Given the description of an element on the screen output the (x, y) to click on. 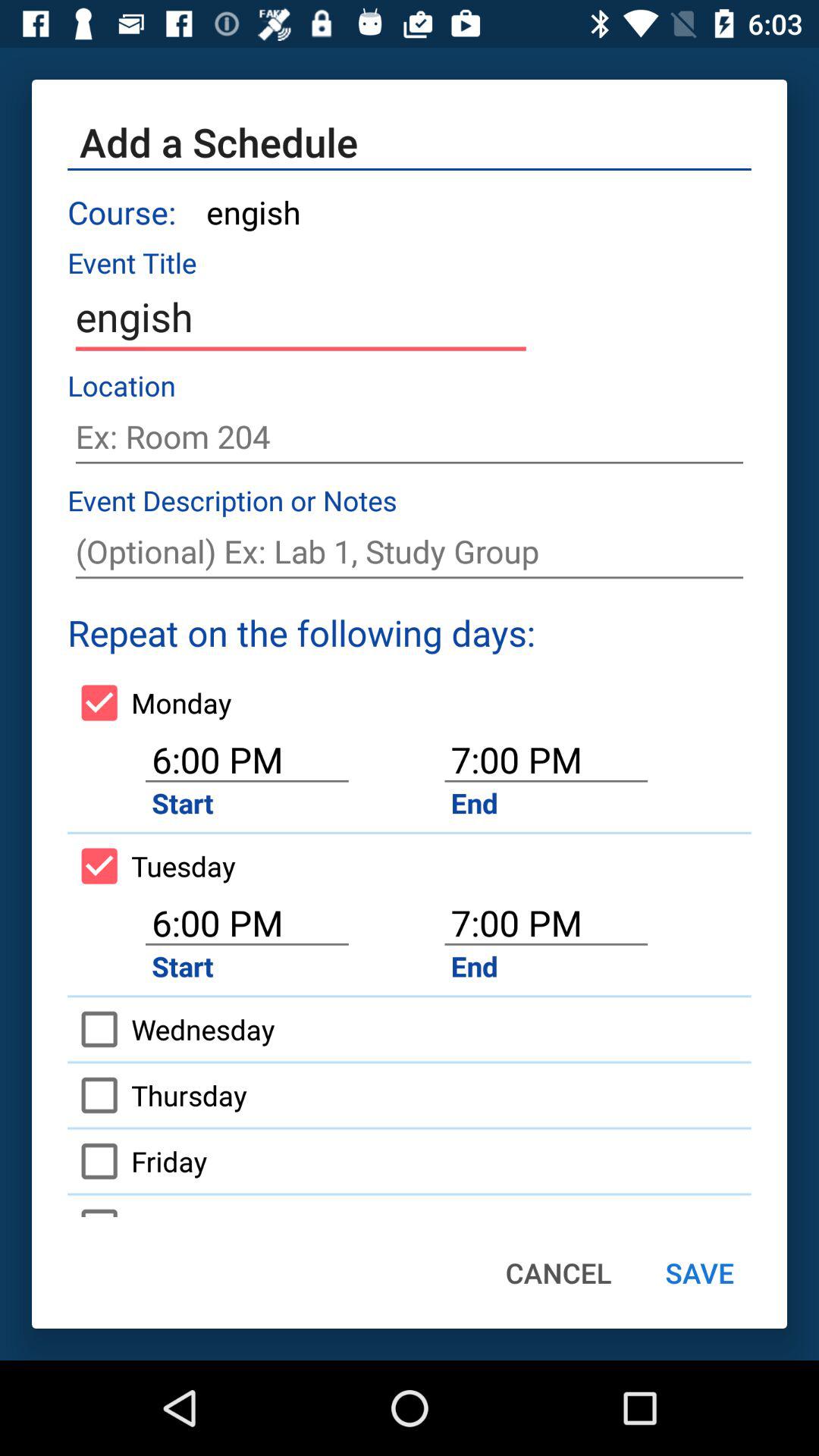
choose icon above the 6:00 pm item (149, 702)
